Given the description of an element on the screen output the (x, y) to click on. 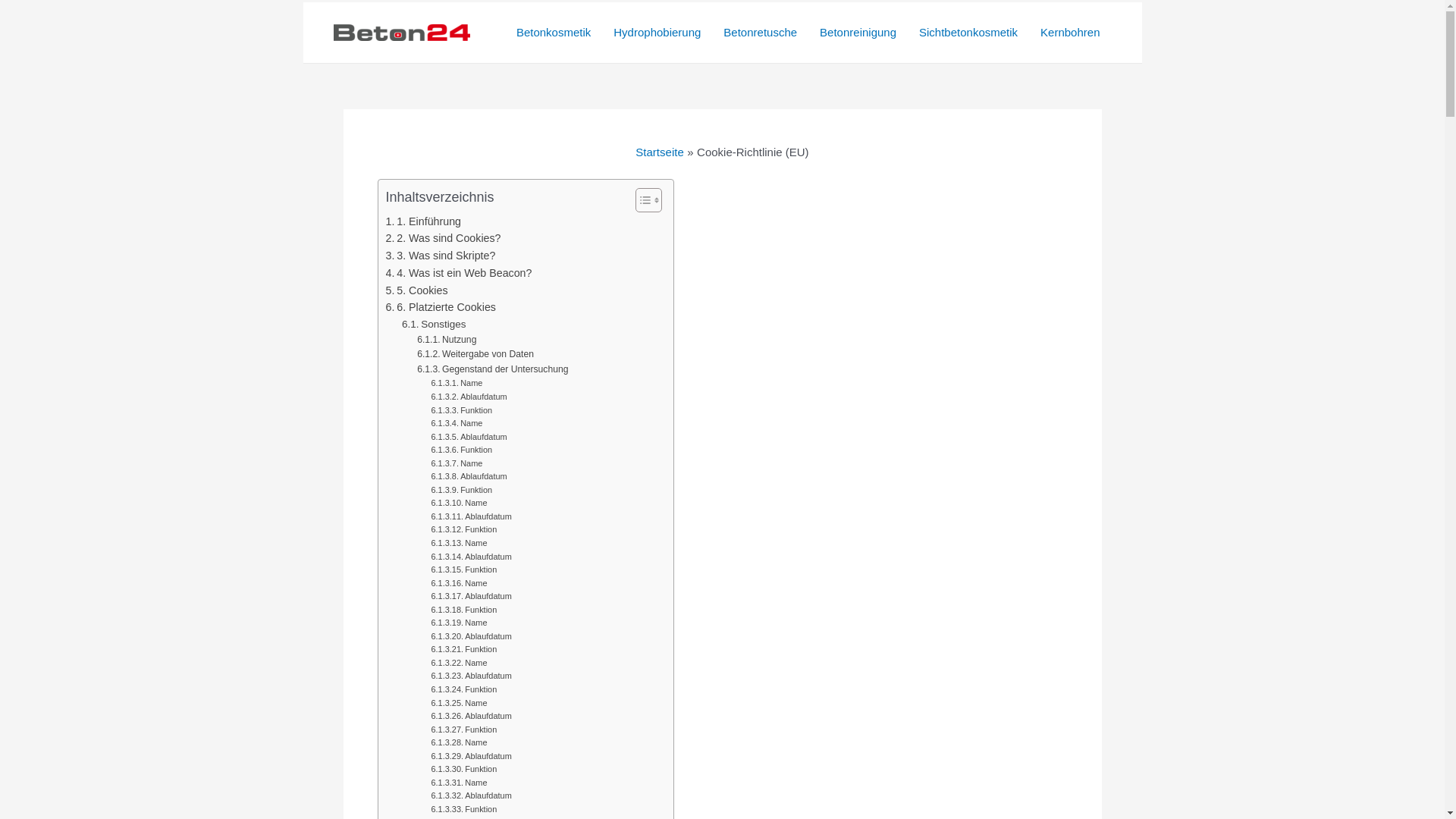
Ablaufdatum Element type: text (470, 796)
Sichtbetonkosmetik Element type: text (968, 32)
Startseite Element type: text (659, 151)
Funktion Element type: text (463, 610)
Gegenstand der Untersuchung Element type: text (492, 369)
Funktion Element type: text (463, 649)
Name Element type: text (458, 503)
Ablaufdatum Element type: text (470, 517)
Betonkosmetik Element type: text (553, 32)
Ablaufdatum Element type: text (470, 596)
Ablaufdatum Element type: text (470, 636)
3. Was sind Skripte? Element type: text (440, 255)
Ablaufdatum Element type: text (470, 716)
6. Platzierte Cookies Element type: text (440, 307)
Funktion Element type: text (463, 769)
Sonstiges Element type: text (433, 324)
Name Element type: text (458, 783)
Kernbohren Element type: text (1069, 32)
Ablaufdatum Element type: text (470, 756)
Betonretusche Element type: text (760, 32)
Name Element type: text (458, 742)
Ablaufdatum Element type: text (468, 397)
Ablaufdatum Element type: text (468, 437)
Name Element type: text (458, 583)
5. Cookies Element type: text (416, 290)
2. Was sind Cookies? Element type: text (442, 238)
Weitergabe von Daten Element type: text (475, 354)
Funktion Element type: text (463, 570)
Name Element type: text (458, 703)
Ablaufdatum Element type: text (470, 557)
Name Element type: text (458, 663)
Funktion Element type: text (461, 490)
Nutzung Element type: text (446, 340)
Funktion Element type: text (461, 450)
Ablaufdatum Element type: text (470, 676)
Name Element type: text (456, 463)
Name Element type: text (458, 623)
Name Element type: text (458, 543)
Betonreinigung Element type: text (857, 32)
Funktion Element type: text (461, 410)
Funktion Element type: text (463, 689)
Funktion Element type: text (463, 529)
Name Element type: text (456, 383)
Funktion Element type: text (463, 730)
4. Was ist ein Web Beacon? Element type: text (458, 273)
Name Element type: text (456, 423)
Funktion Element type: text (463, 809)
Hydrophobierung Element type: text (657, 32)
Ablaufdatum Element type: text (468, 476)
